Given the description of an element on the screen output the (x, y) to click on. 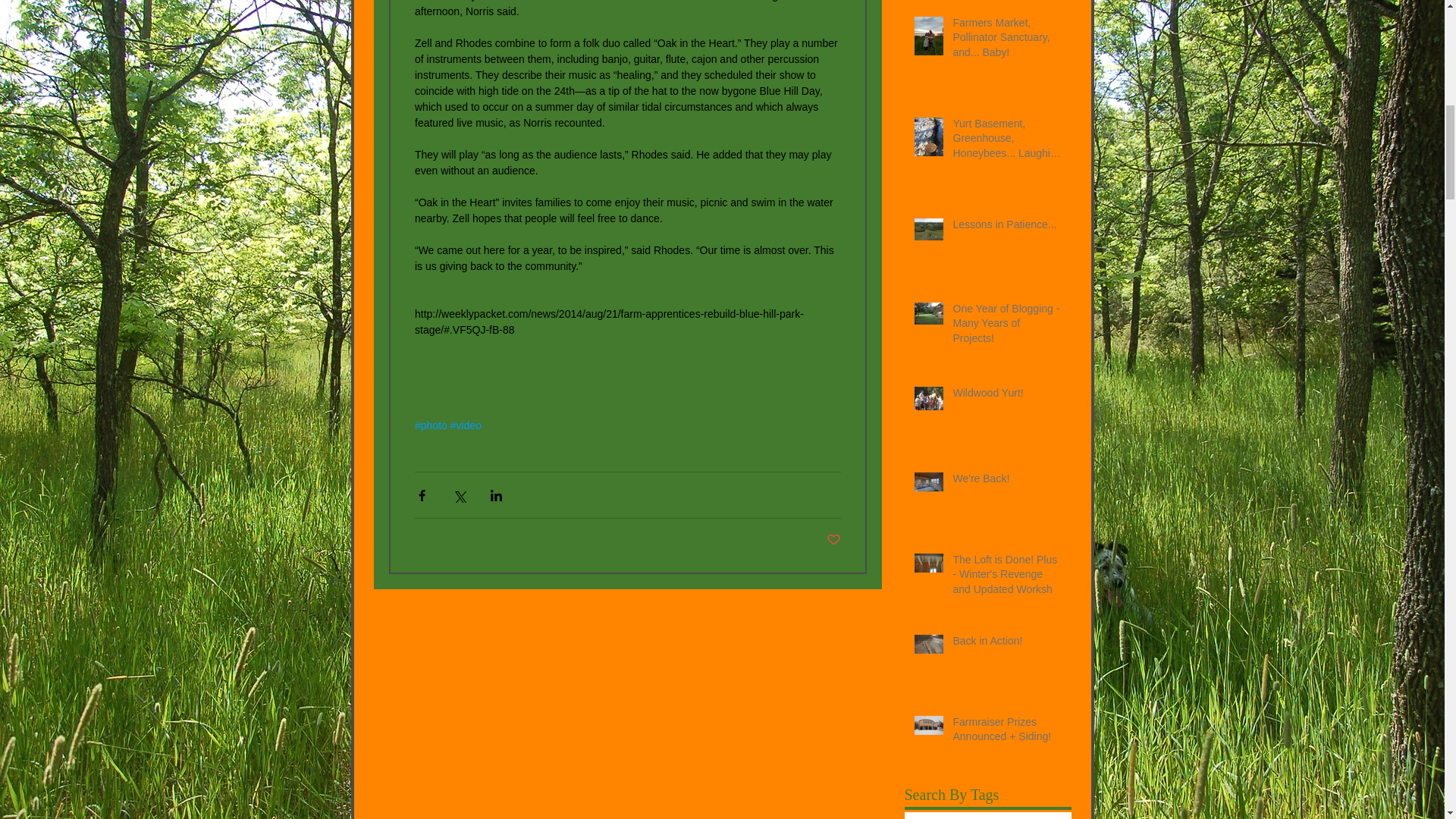
Back in Action! (1006, 644)
One Year of Blogging - Many Years of Projects! (1006, 327)
Post not marked as liked (834, 539)
The Loft is Done! Plus - Winter's Revenge and Updated Worksh (1006, 577)
Wildwood Yurt! (1006, 396)
Farmers Market, Pollinator Sanctuary, and... Baby! (1006, 40)
We're Back! (1006, 482)
Lessons in Patience... (1006, 228)
